Given the description of an element on the screen output the (x, y) to click on. 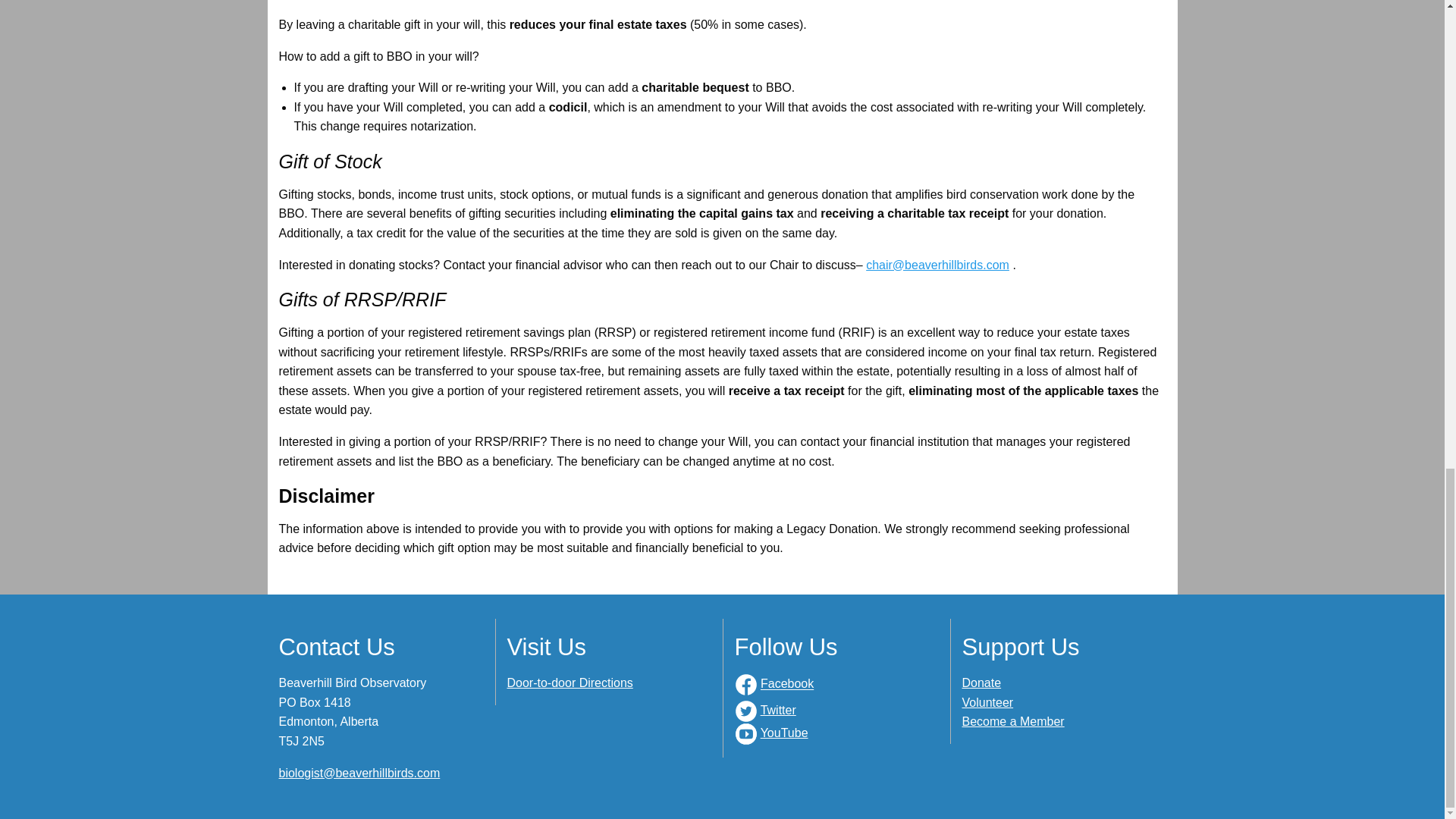
BBO Facebook (745, 684)
BBO Twitter (745, 711)
BBO YouTube Channel (745, 733)
